Given the description of an element on the screen output the (x, y) to click on. 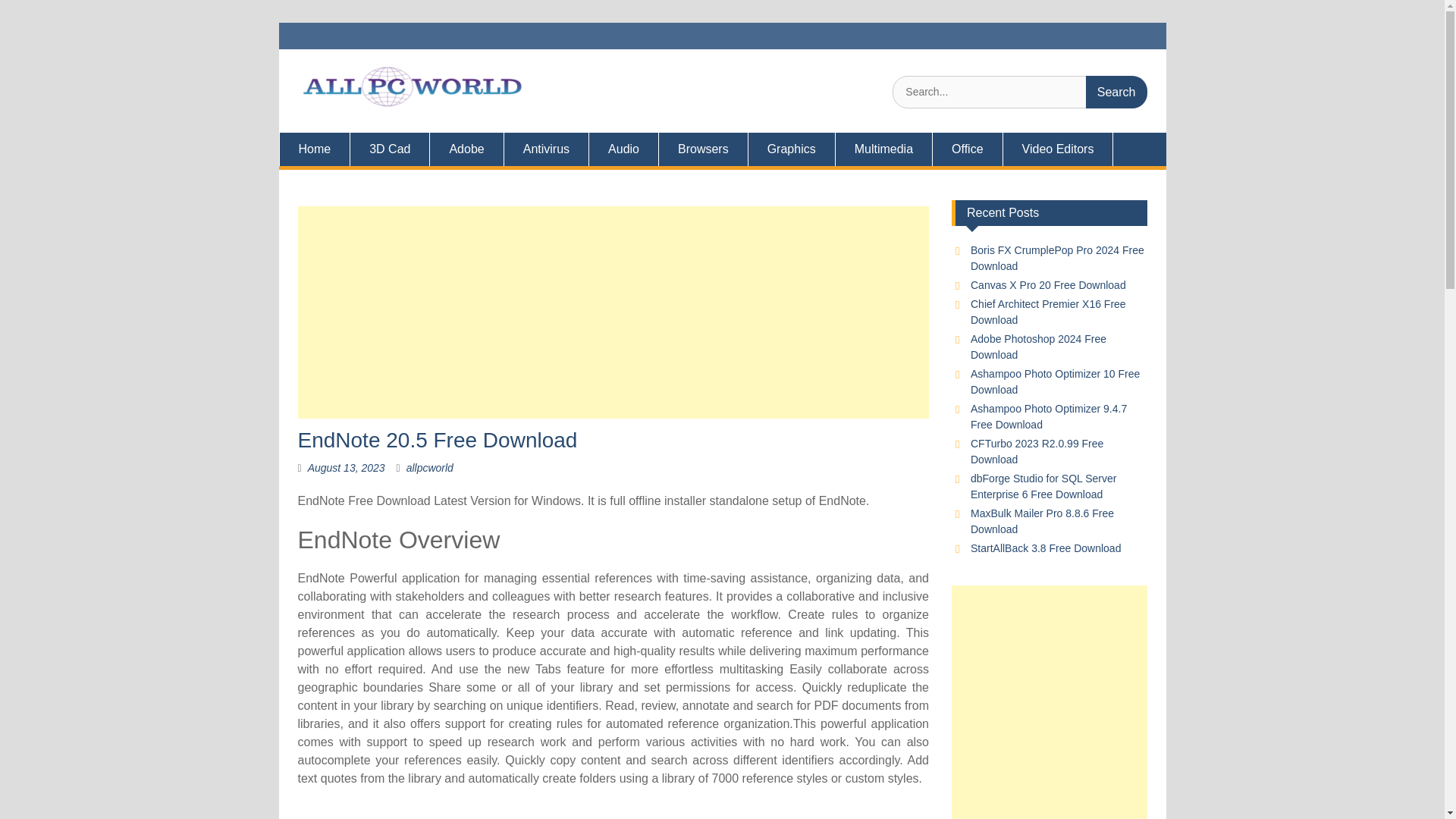
Search (1116, 92)
Multimedia (884, 149)
Search for: (1019, 92)
Adobe (466, 149)
Video Editors (1058, 149)
Office (968, 149)
Graphics (791, 149)
Antivirus (546, 149)
Search (1116, 92)
